Given the description of an element on the screen output the (x, y) to click on. 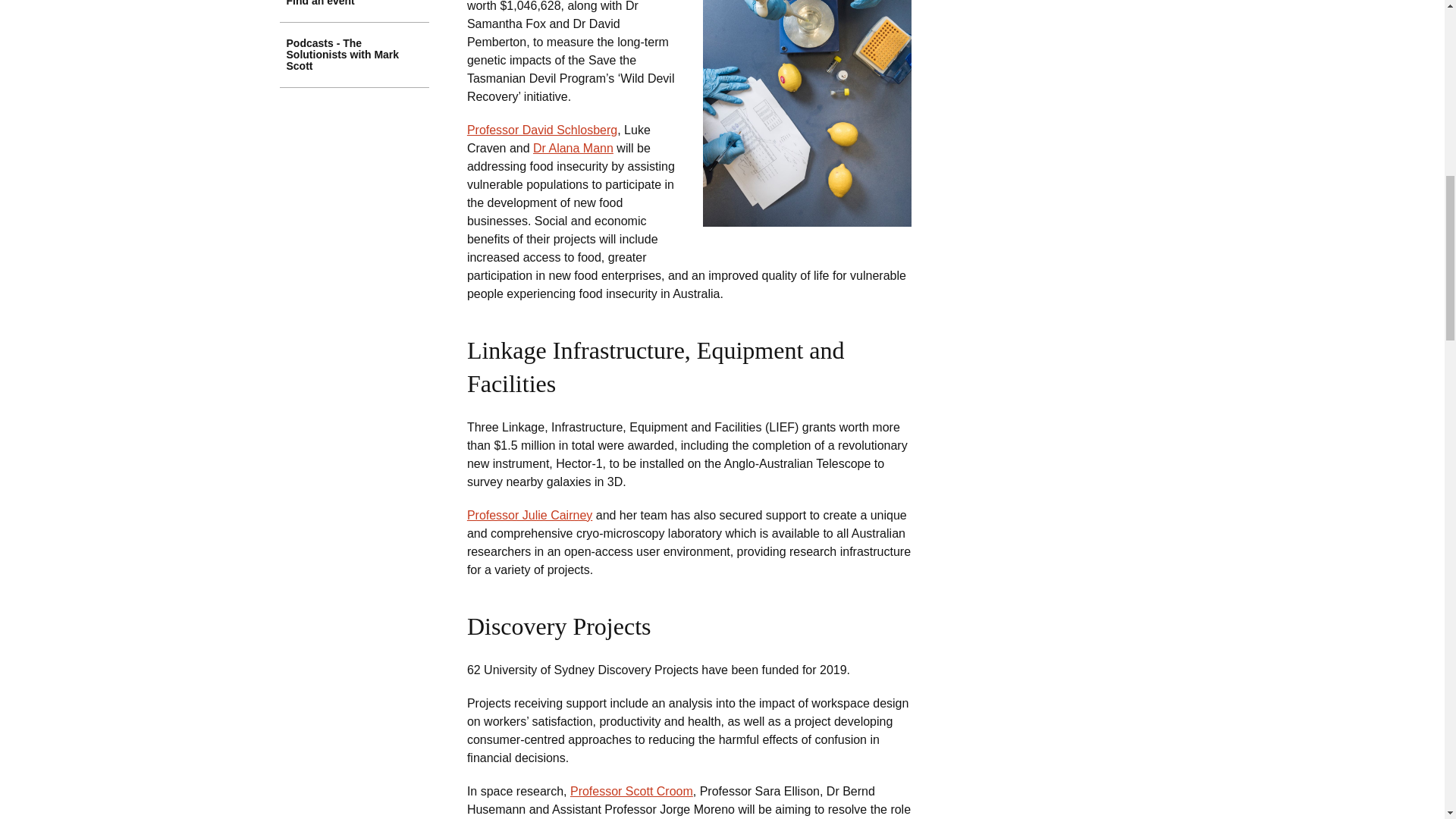
Find an event (354, 11)
Dr Alana Mann (572, 147)
Professor Scott Croom (631, 790)
Podcasts - The Solutionists with Mark Scott (354, 54)
Professor David Schlosberg (542, 129)
Professor Julie Cairney (529, 514)
